Given the description of an element on the screen output the (x, y) to click on. 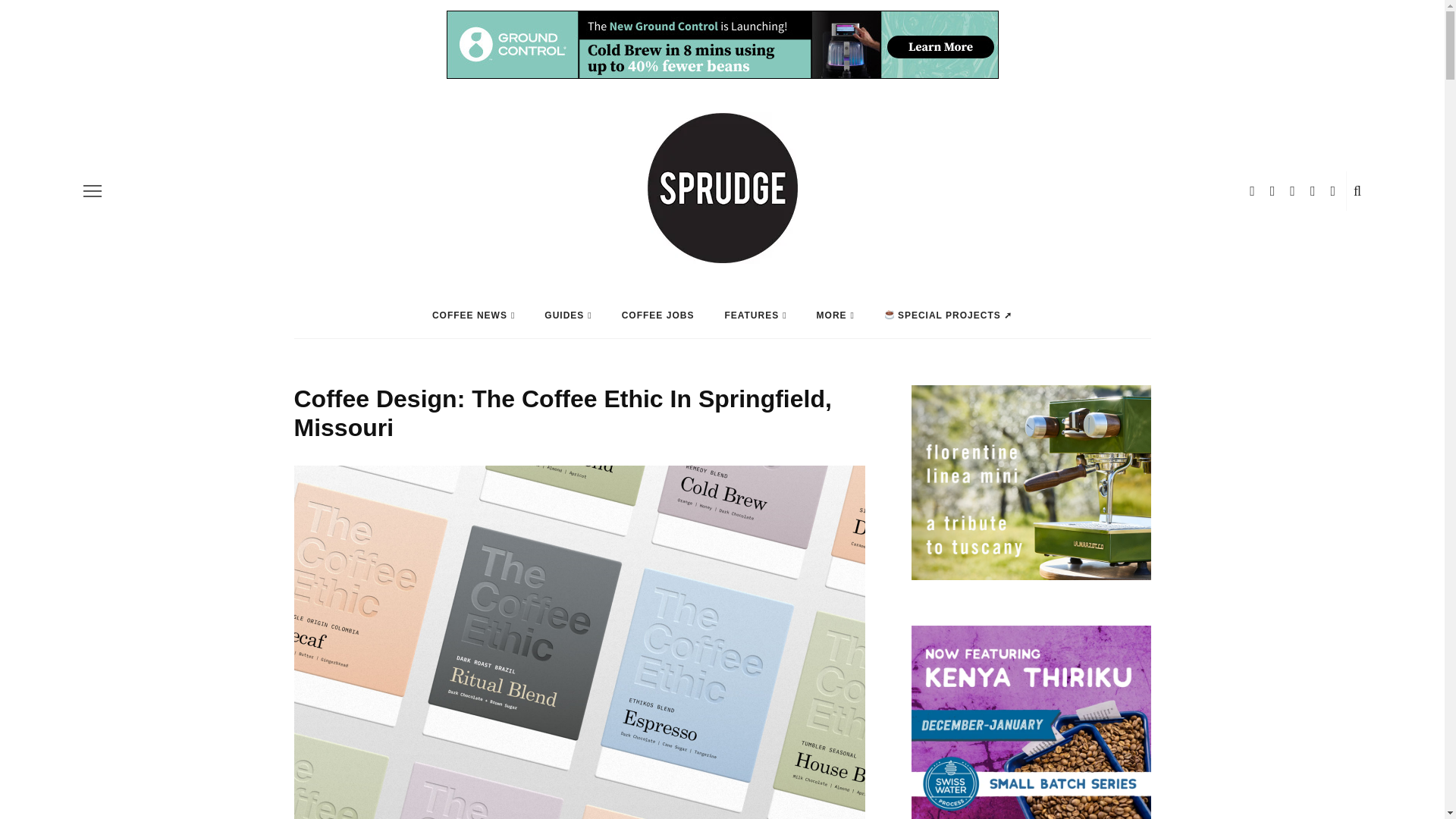
Coffee Guides (567, 315)
off canvas button (91, 190)
